Given the description of an element on the screen output the (x, y) to click on. 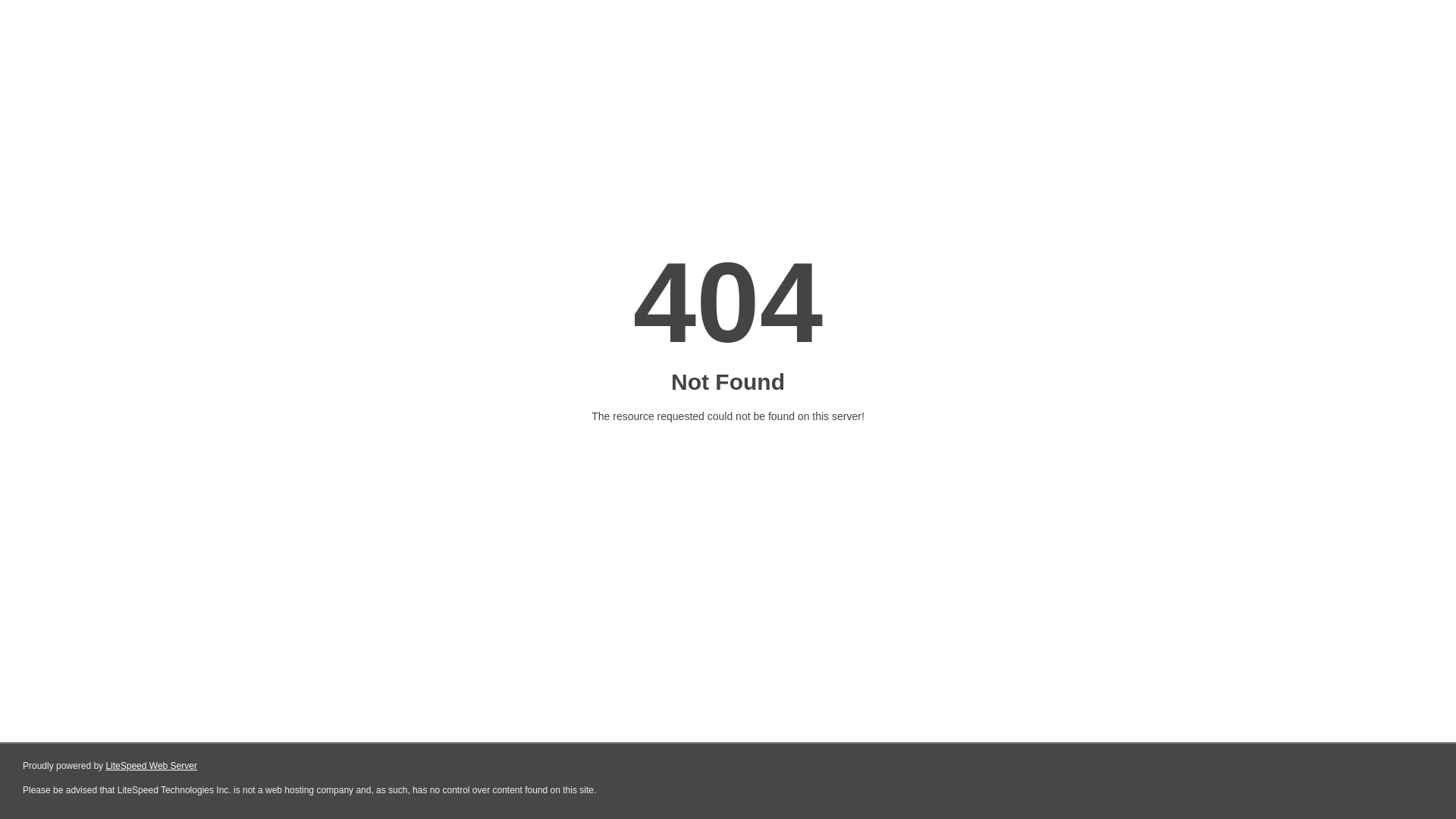
LiteSpeed Web Server Element type: text (151, 765)
